Given the description of an element on the screen output the (x, y) to click on. 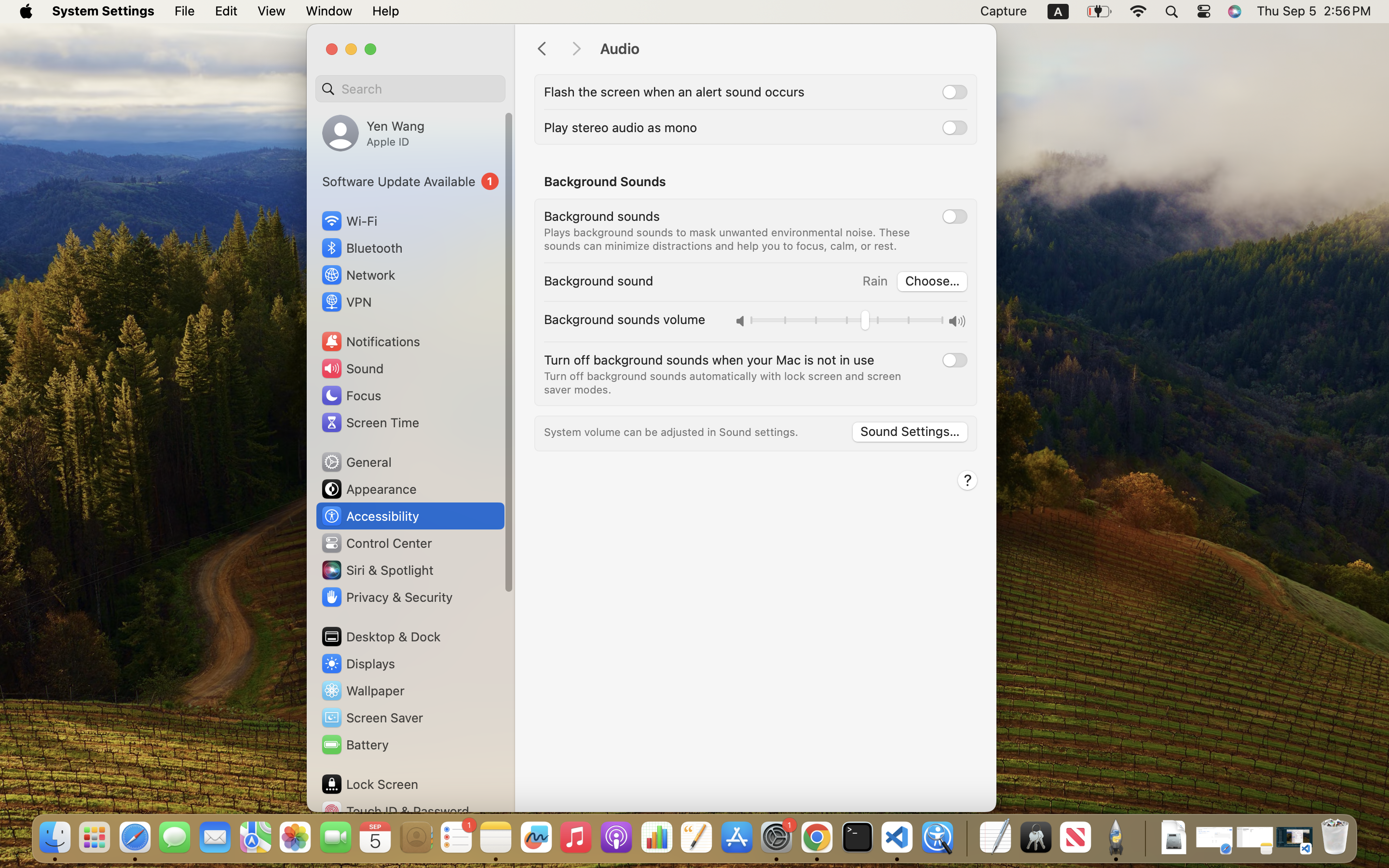
Lock Screen Element type: AXStaticText (369, 783)
Network Element type: AXStaticText (357, 274)
Audio Element type: AXStaticText (788, 49)
VPN Element type: AXStaticText (345, 301)
Privacy & Security Element type: AXStaticText (386, 596)
